Given the description of an element on the screen output the (x, y) to click on. 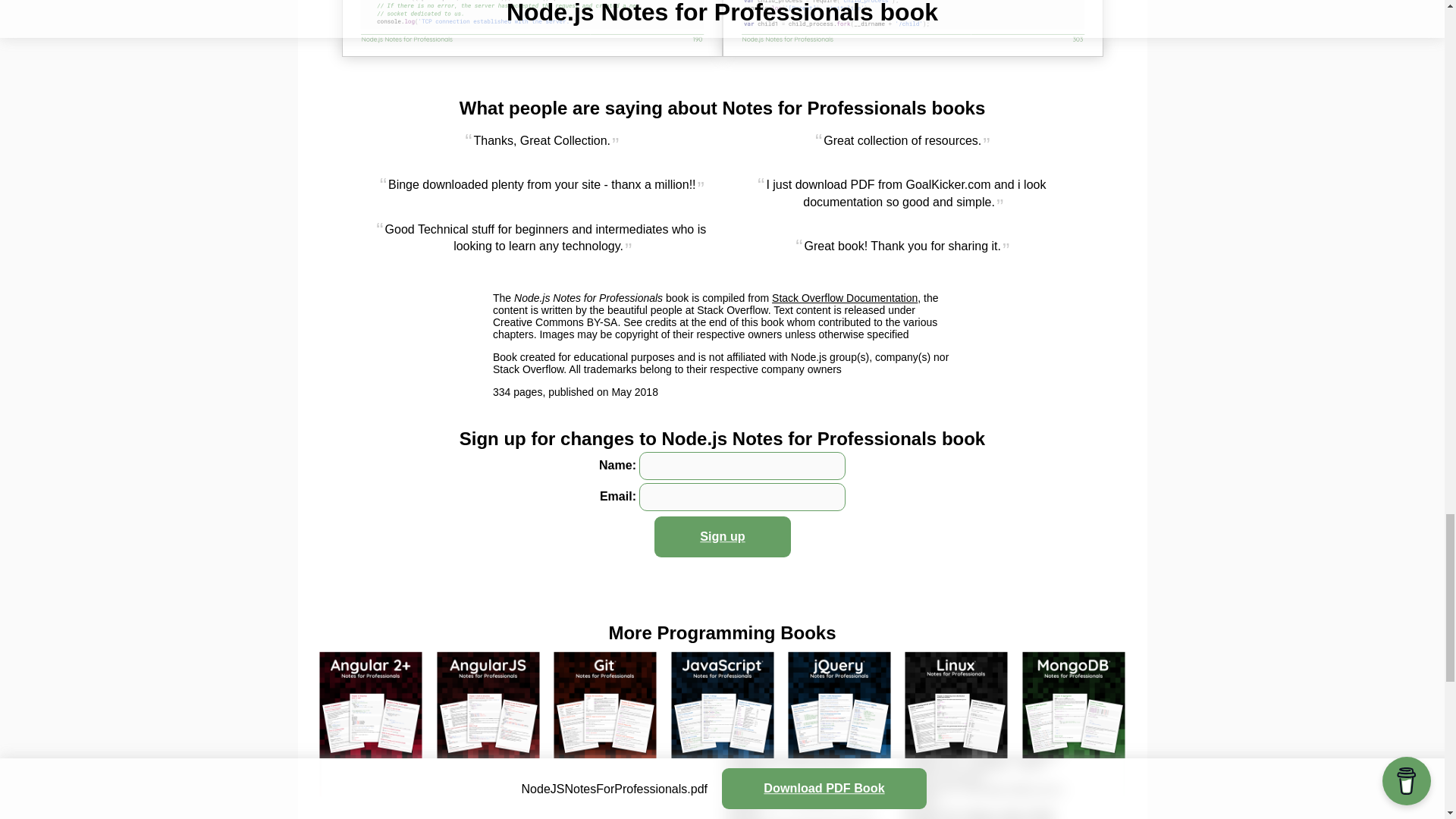
Sign up (729, 538)
Stack Overflow Documentation (844, 297)
